Given the description of an element on the screen output the (x, y) to click on. 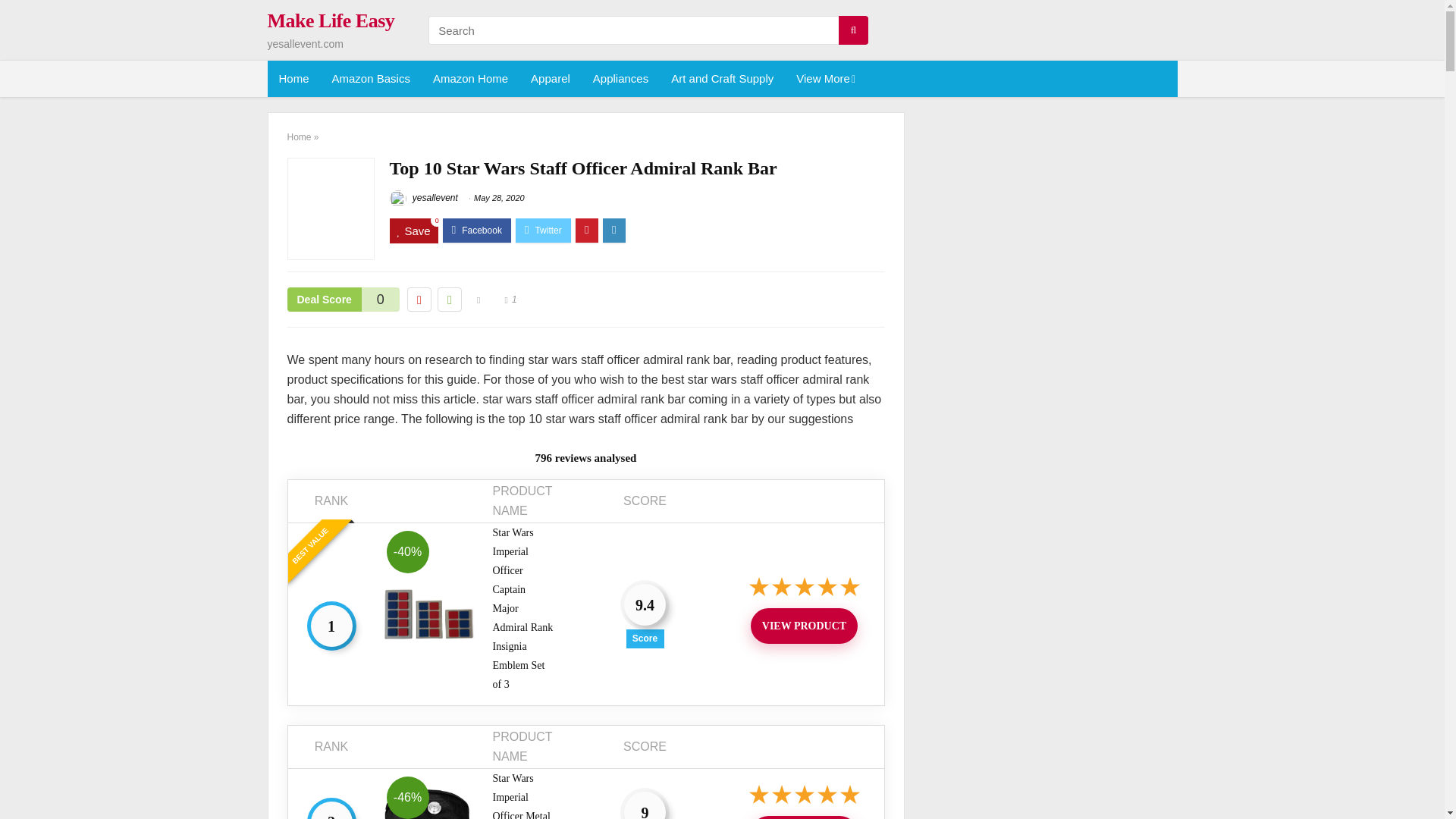
Vote down (418, 299)
View More (823, 78)
Amazon Basics (371, 78)
Amazon Home (470, 78)
Appliances (619, 78)
Home (293, 78)
Art and Craft Supply (721, 78)
Apparel (549, 78)
